Given the description of an element on the screen output the (x, y) to click on. 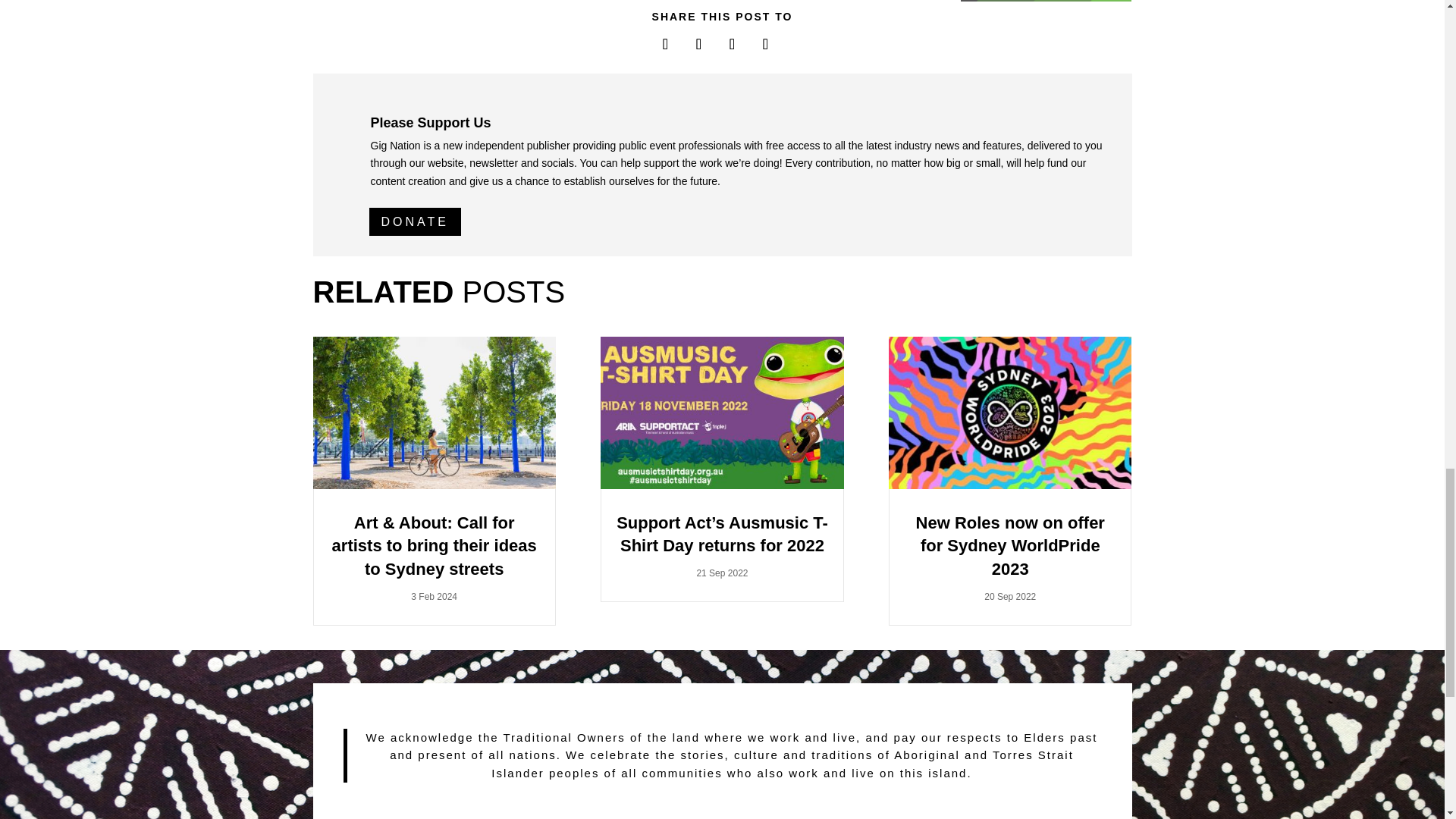
New Roles now on offer for Sydney WorldPride 2023 (1010, 546)
DONATE (414, 221)
